Given the description of an element on the screen output the (x, y) to click on. 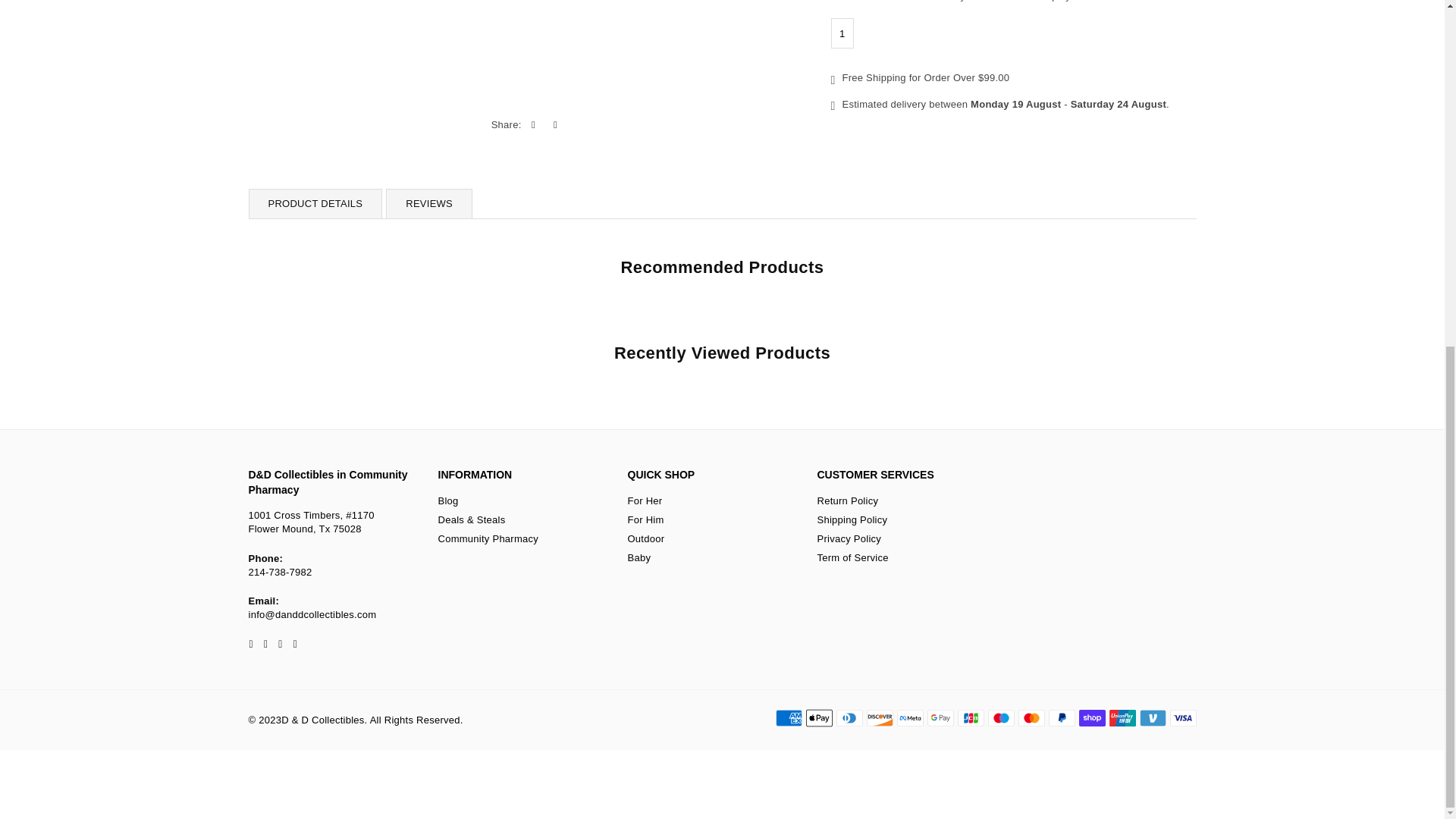
Google Pay (939, 718)
Diners Club (848, 718)
Shop Pay (1091, 718)
Discover (879, 718)
JCB (970, 718)
Maestro (1000, 718)
Mastercard (1030, 718)
Venmo (1152, 718)
Apple Pay (818, 718)
Union Pay (1121, 718)
